Given the description of an element on the screen output the (x, y) to click on. 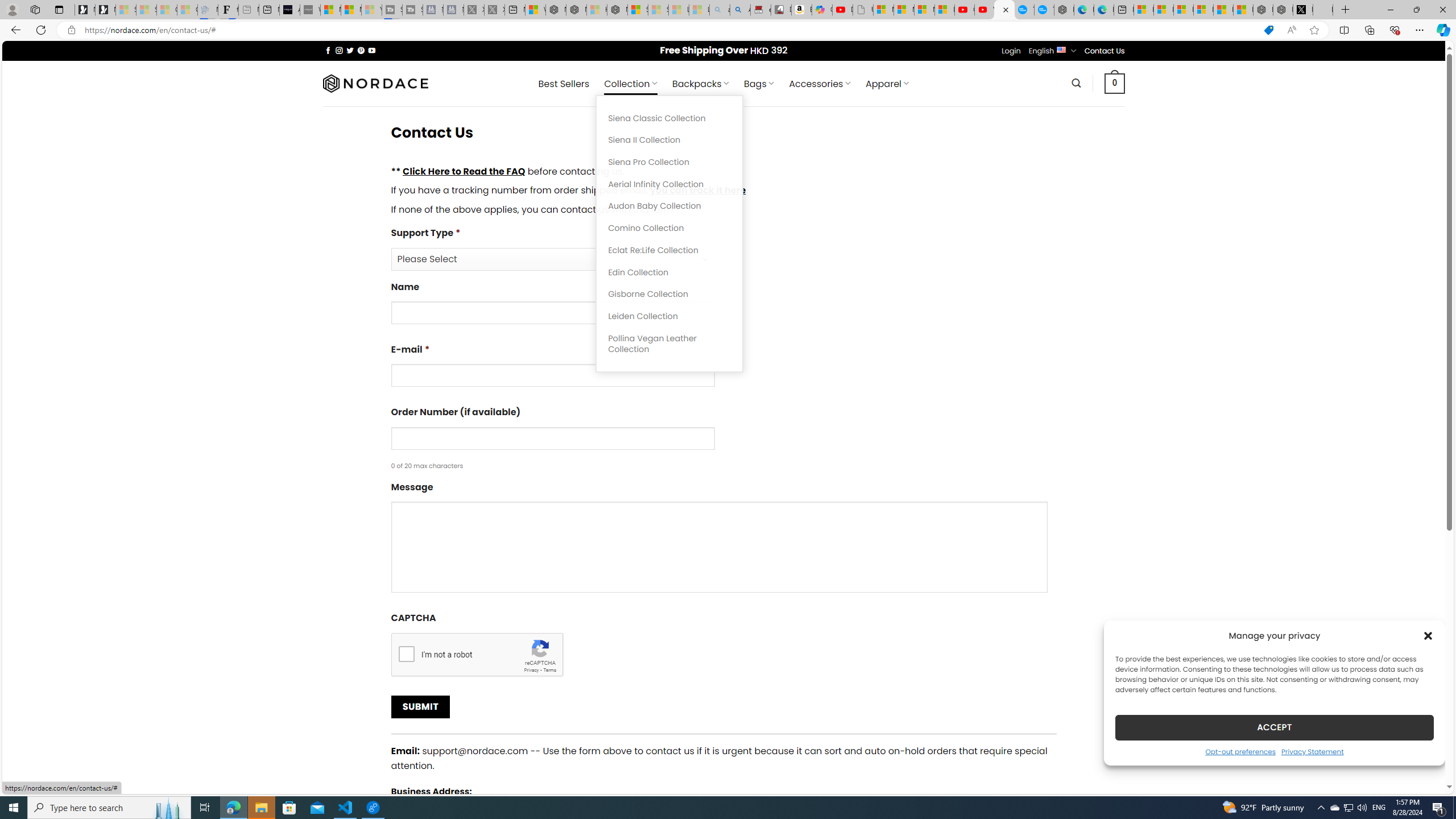
Microsoft account | Microsoft Account Privacy Settings (1162, 9)
Privacy (530, 669)
Login (1010, 50)
Follow on Pinterest (360, 49)
What's the best AI voice generator? - voice.ai - Sleeping (309, 9)
Order Number (if available) (552, 437)
Siena II Collection (669, 140)
Class: cmplz-close (1428, 635)
